Given the description of an element on the screen output the (x, y) to click on. 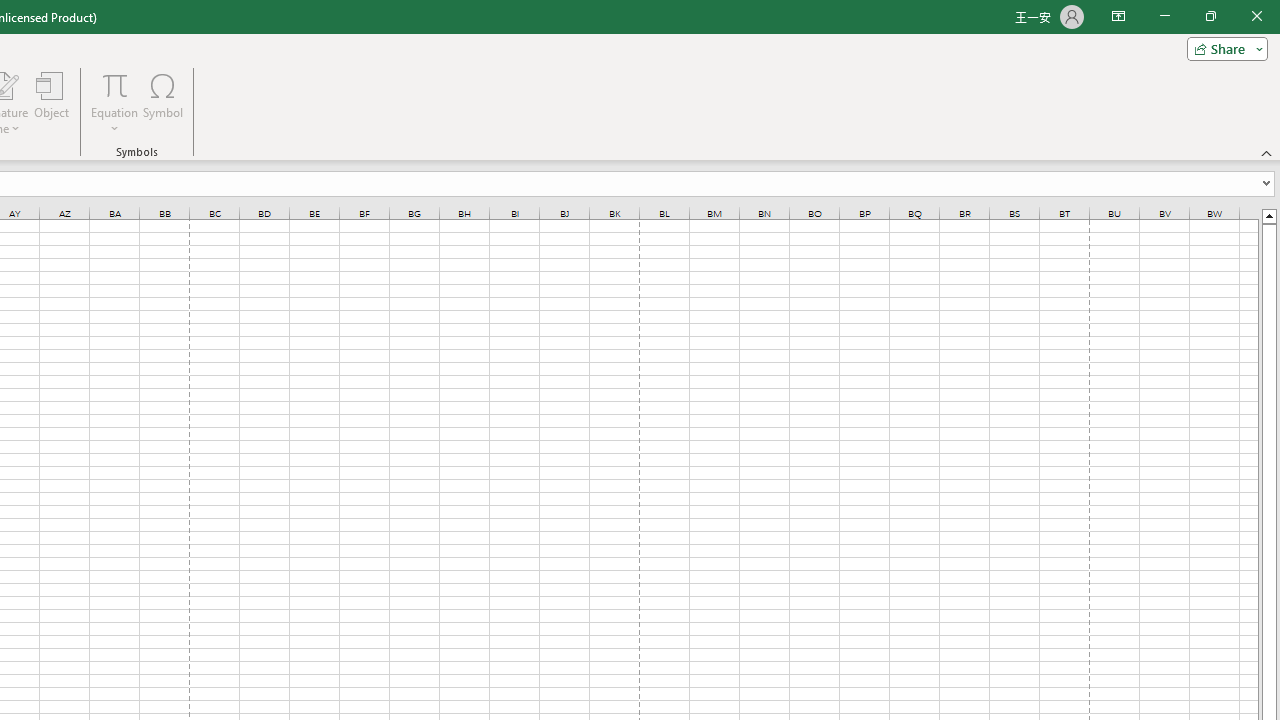
Equation (114, 84)
Equation (114, 102)
Object... (51, 102)
Symbol... (162, 102)
